Given the description of an element on the screen output the (x, y) to click on. 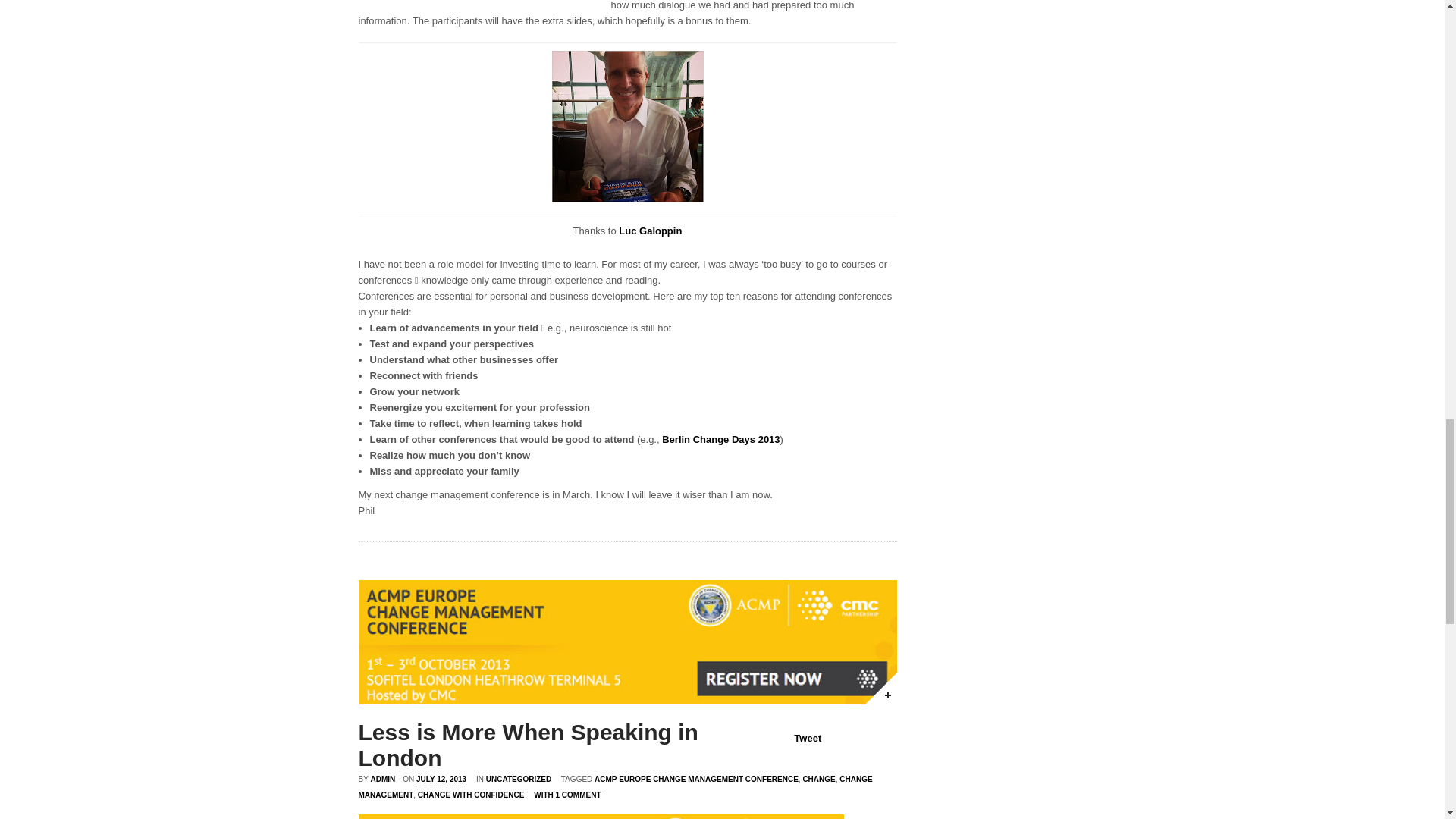
View all posts by admin (381, 778)
Permalink to Less is More When Speaking in London (880, 688)
12:20 pm (440, 778)
Permalink to Less is More When Speaking in London (527, 744)
